Given the description of an element on the screen output the (x, y) to click on. 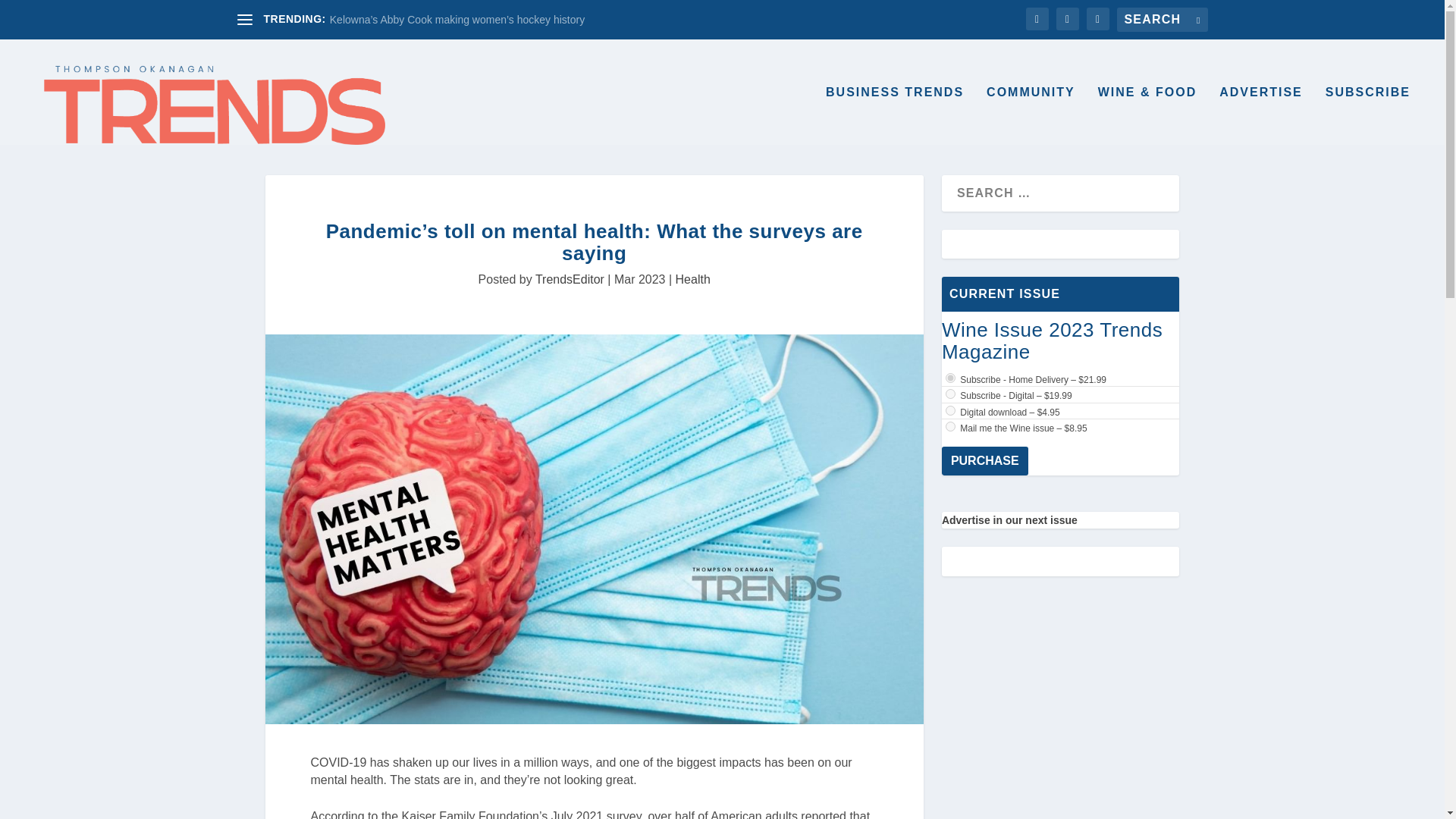
BUSINESS TRENDS (894, 115)
1 (949, 410)
SUBSCRIBE (1367, 115)
Search for: (1161, 19)
Health (692, 278)
TrendsEditor (569, 278)
3 (949, 393)
Posts by TrendsEditor (569, 278)
COMMUNITY (1031, 115)
2 (949, 378)
